Given the description of an element on the screen output the (x, y) to click on. 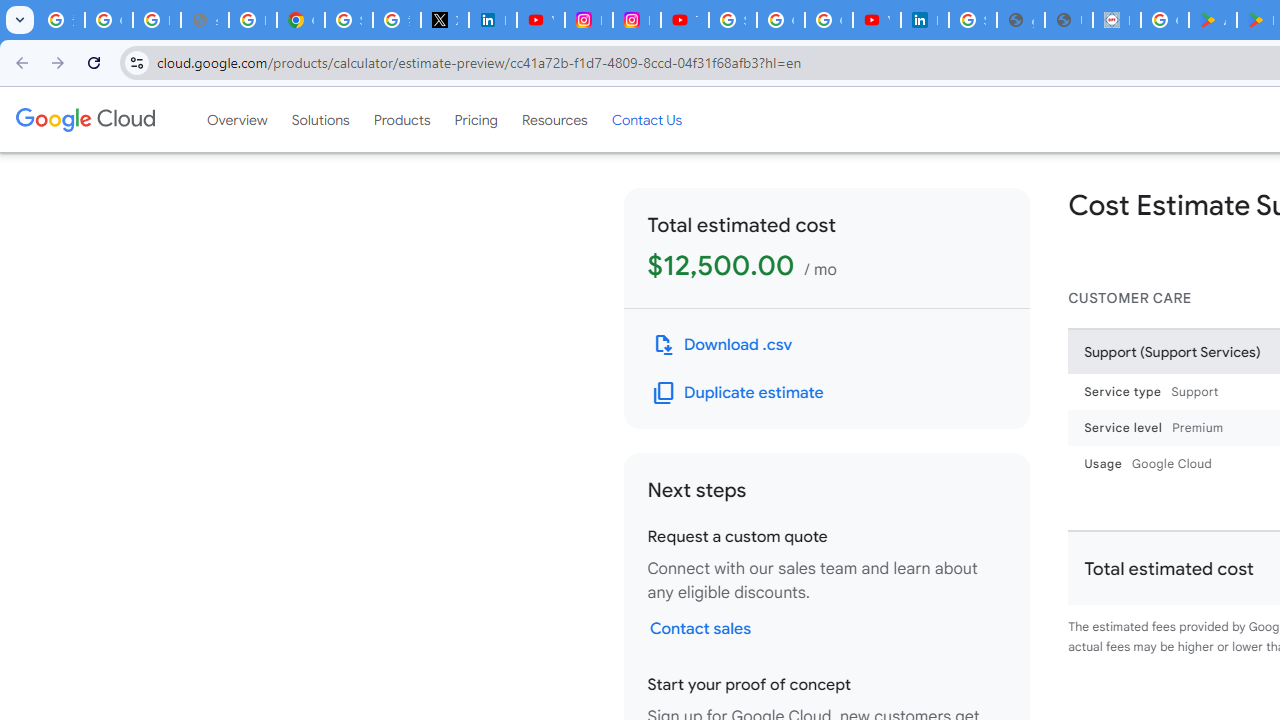
Pricing (476, 119)
Download .csv file (722, 344)
support.google.com - Network error (204, 20)
Products (401, 119)
User Details (1068, 20)
X (444, 20)
Contact sales (699, 628)
Contact Us (646, 119)
